Given the description of an element on the screen output the (x, y) to click on. 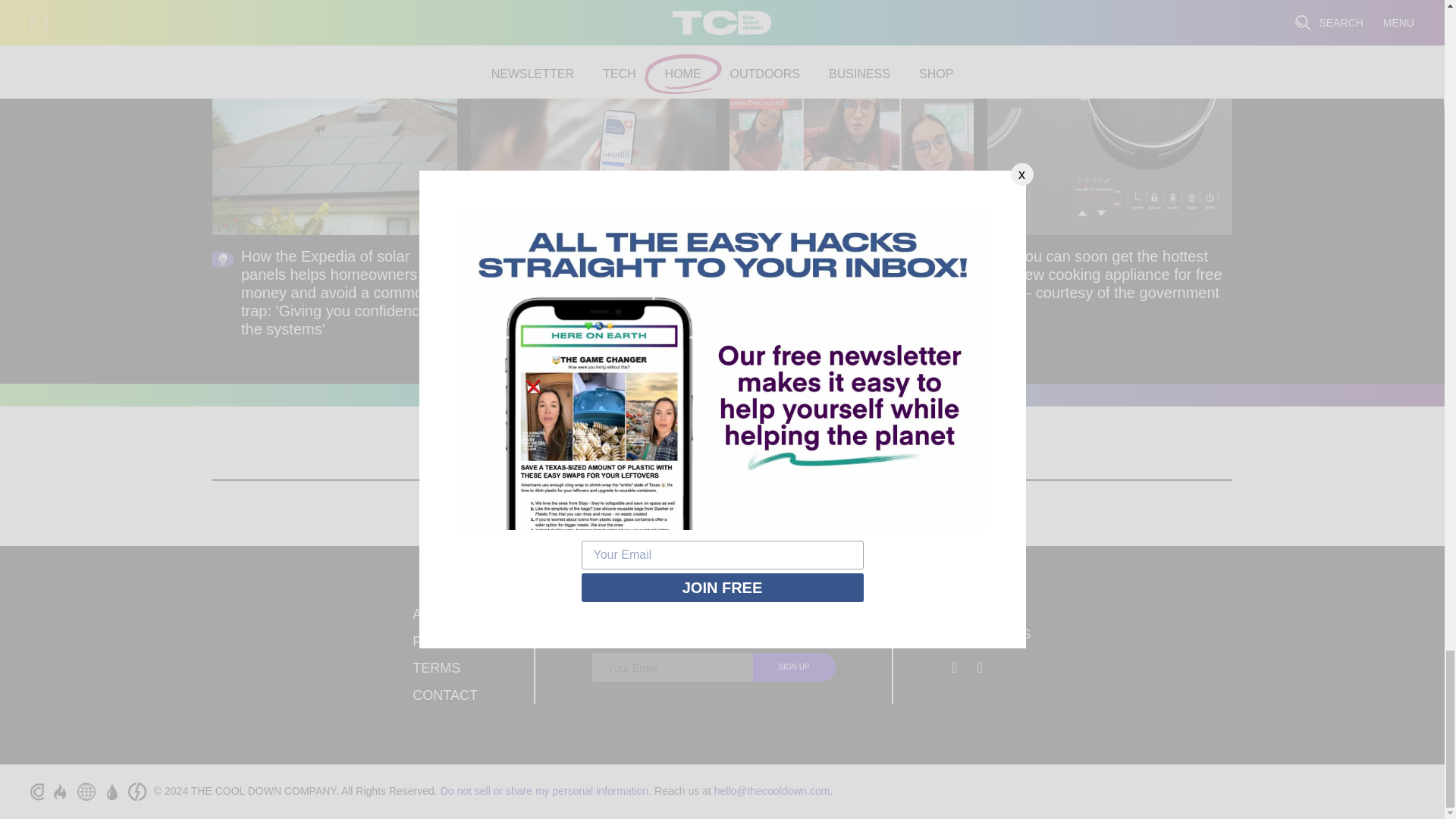
Sign Up (793, 666)
